Given the description of an element on the screen output the (x, y) to click on. 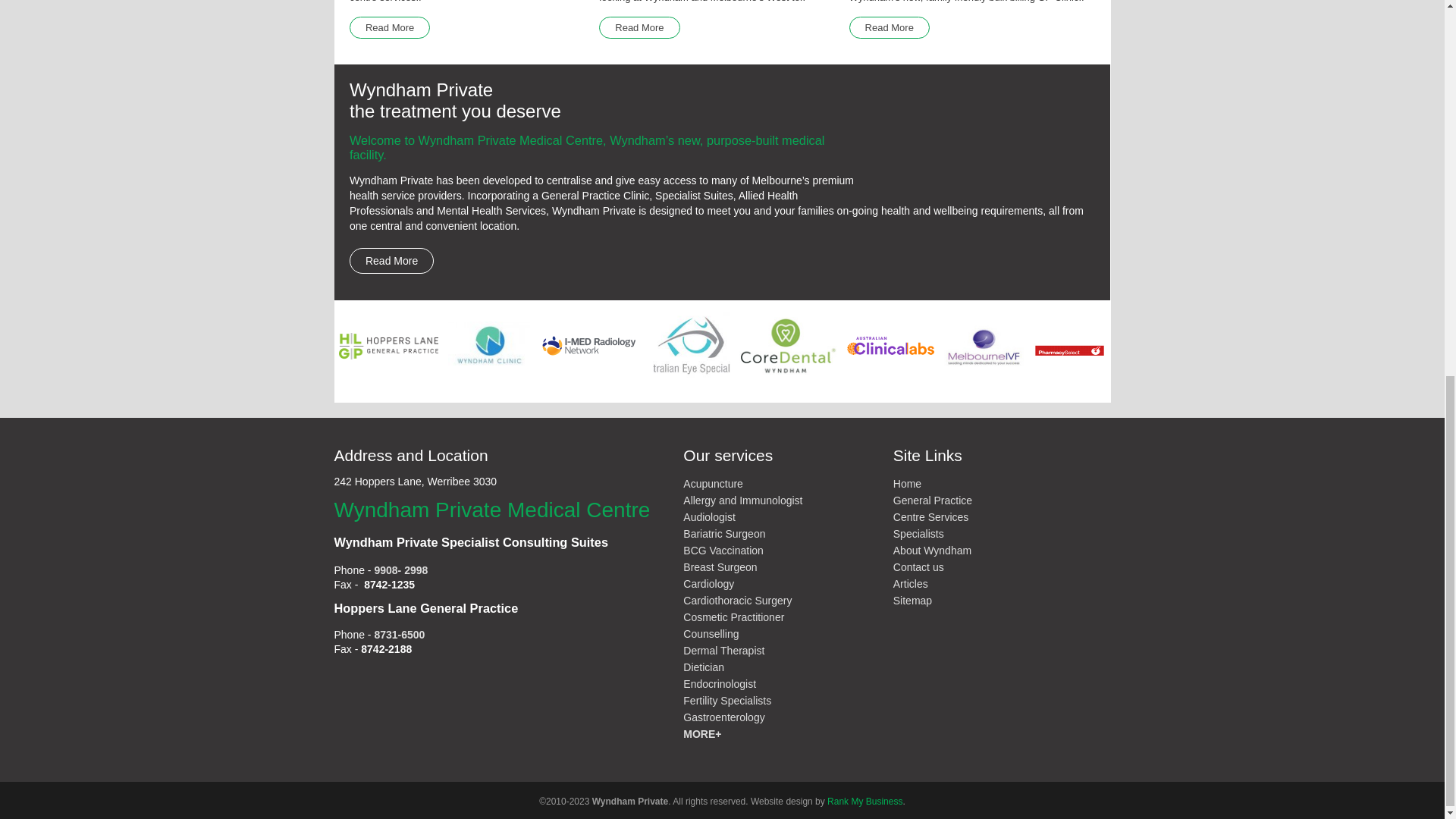
Audiologist (708, 517)
Gastroenterology (723, 717)
Cosmetic Practitioner (733, 616)
Read More (889, 27)
Acupuncture (712, 483)
Breast Surgeon (719, 567)
Read More (638, 27)
Bariatric Surgeon (723, 533)
Dietician (702, 666)
Allergy and Immunologist (742, 500)
